Given the description of an element on the screen output the (x, y) to click on. 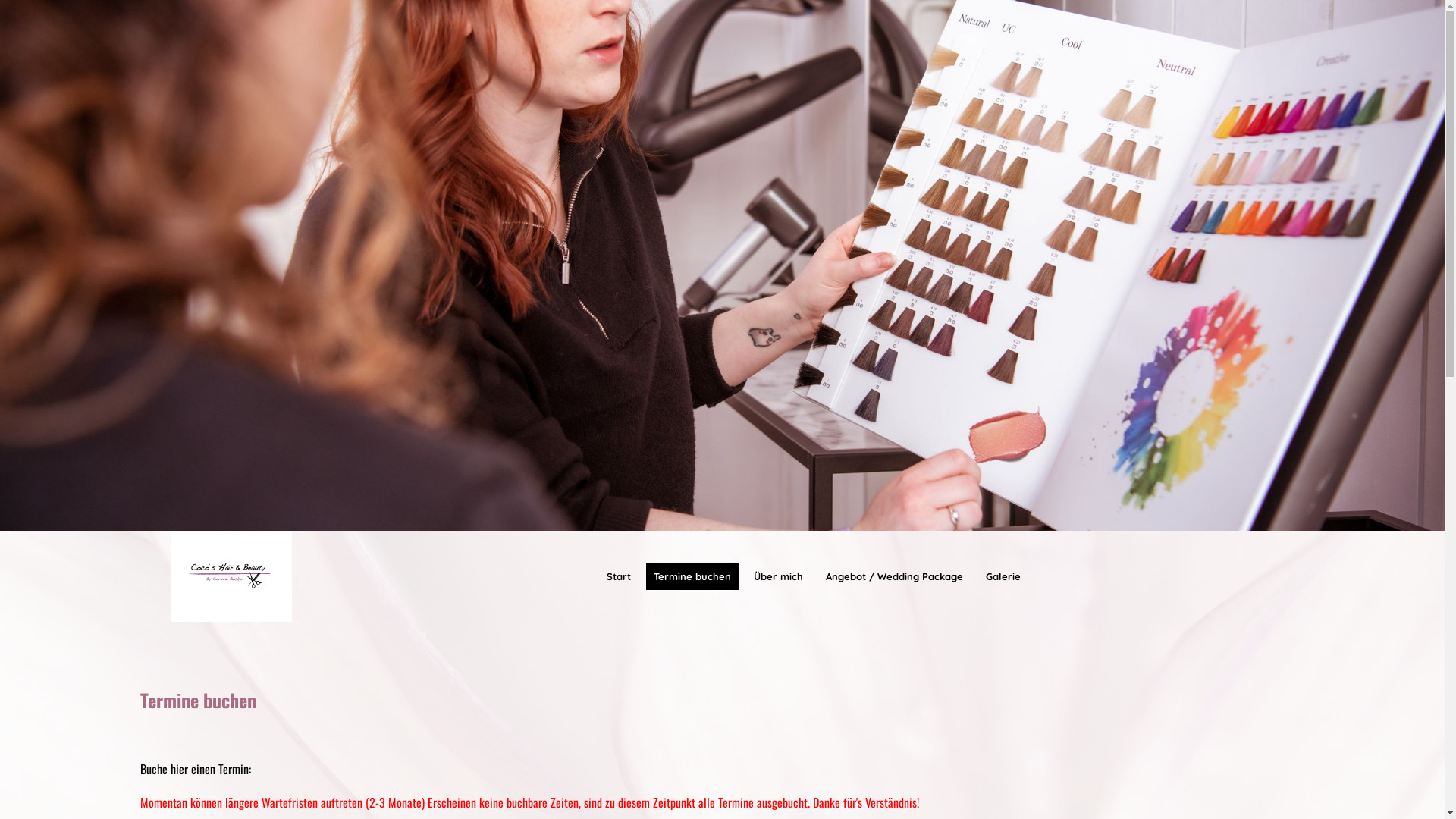
Angebot / Wedding Package Element type: text (893, 575)
Termine buchen Element type: text (692, 575)
Galerie Element type: text (1003, 575)
Start Element type: text (618, 575)
